Given the description of an element on the screen output the (x, y) to click on. 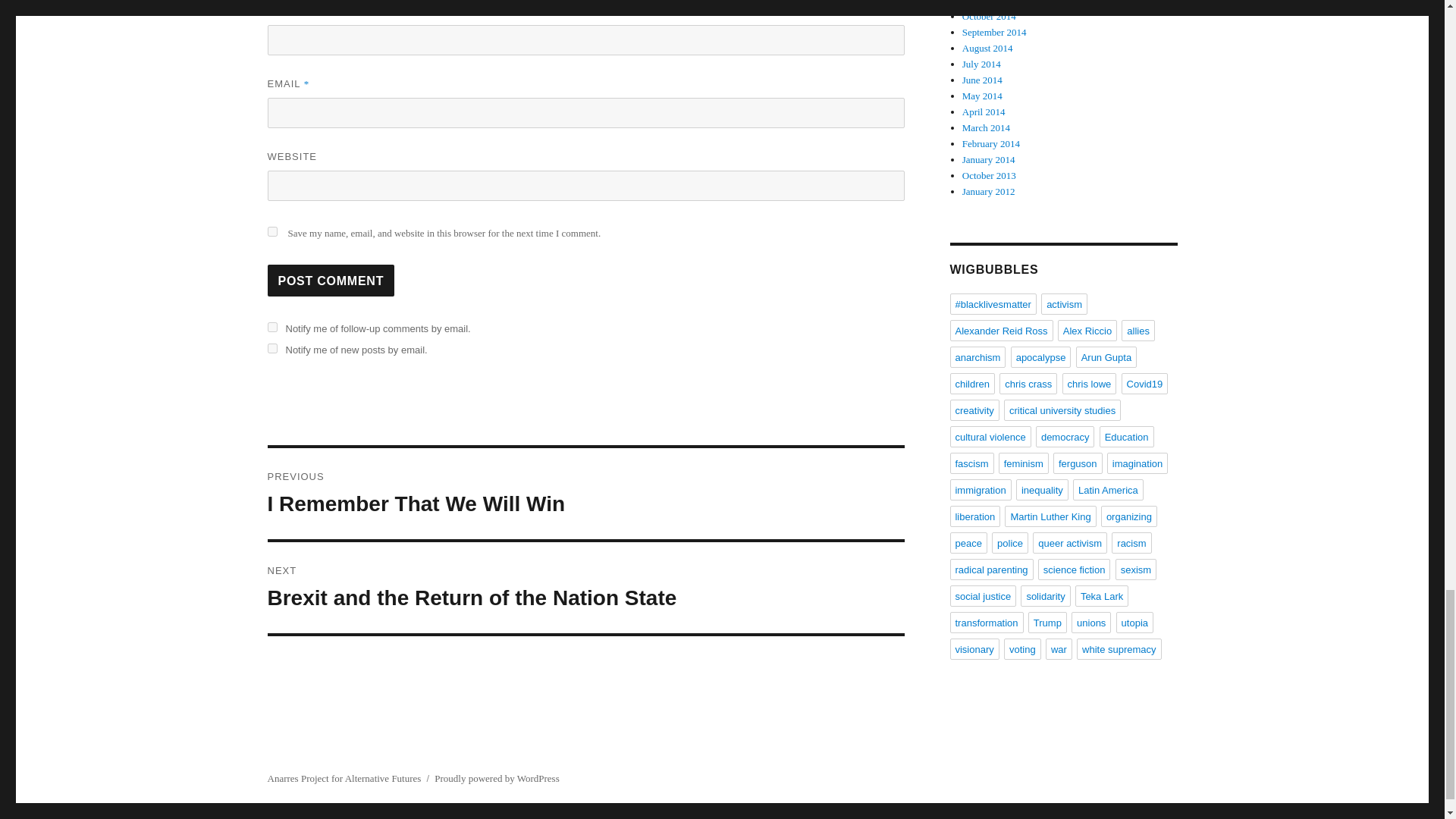
Post Comment (585, 587)
subscribe (330, 280)
Post Comment (271, 327)
yes (330, 280)
subscribe (271, 231)
